Given the description of an element on the screen output the (x, y) to click on. 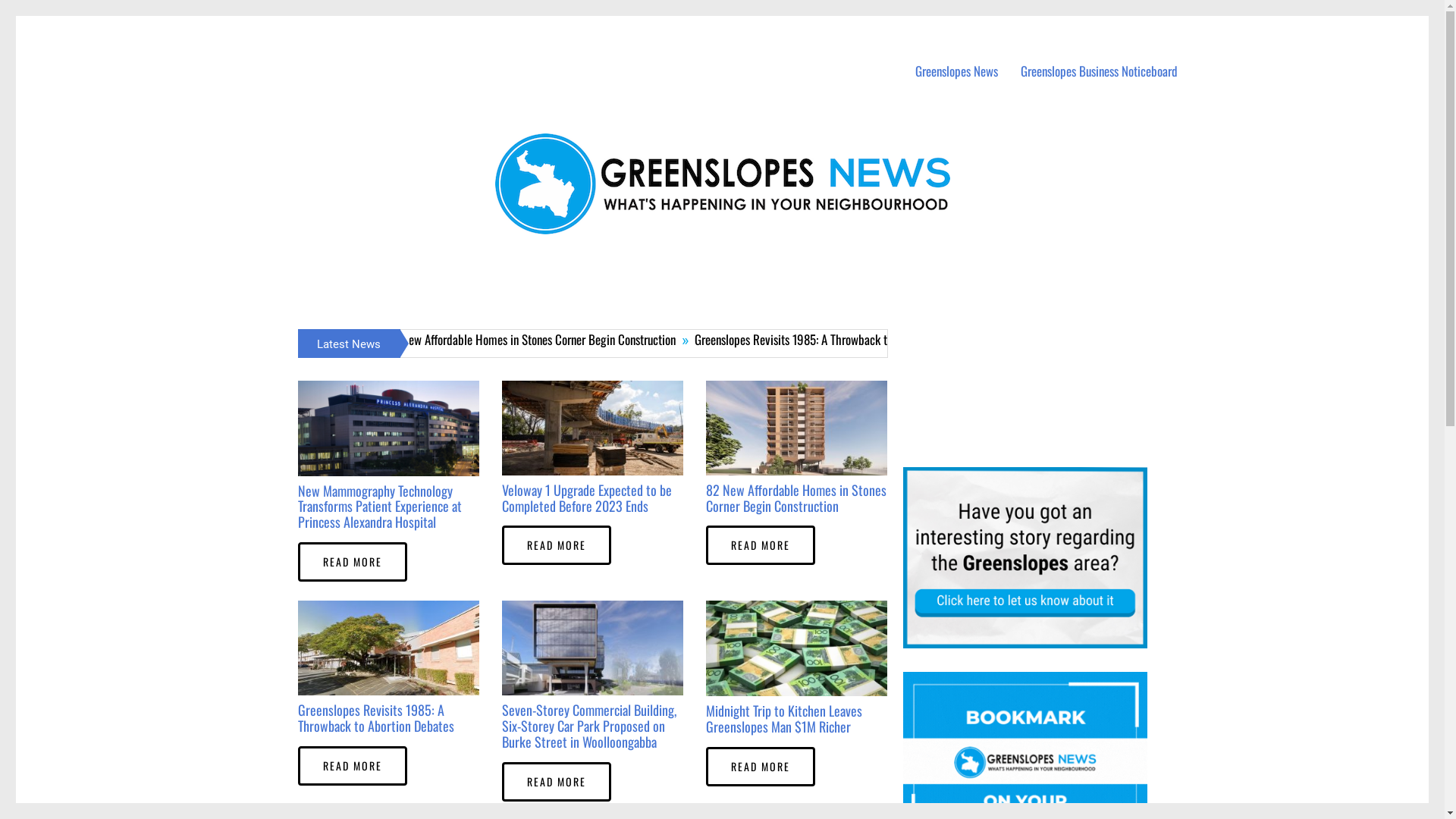
Greenslopes News Element type: text (335, 44)
READ MORE Element type: text (351, 561)
READ MORE Element type: text (760, 766)
82 New Affordable Homes in Stones Corner Begin Construction Element type: text (796, 497)
READ MORE Element type: text (556, 544)
Greenslopes News Element type: text (956, 71)
Veloway 1 Upgrade Expected to be Completed Before 2023 Ends Element type: text (344, 338)
READ MORE Element type: text (760, 544)
READ MORE Element type: text (556, 781)
Greenslopes Revisits 1985: A Throwback to Abortion Debates Element type: text (375, 717)
82 New Affordable Homes in Stones Corner Begin Construction Element type: text (655, 338)
READ MORE Element type: text (351, 765)
Greenslopes Business Noticeboard Element type: text (1099, 71)
Greenslopes Revisits 1985: A Throwback to Abortion Debates Element type: text (958, 338)
Veloway 1 Upgrade Expected to be Completed Before 2023 Ends Element type: text (586, 497)
Midnight Trip to Kitchen Leaves Greenslopes Man $1M Richer Element type: text (784, 718)
